Given the description of an element on the screen output the (x, y) to click on. 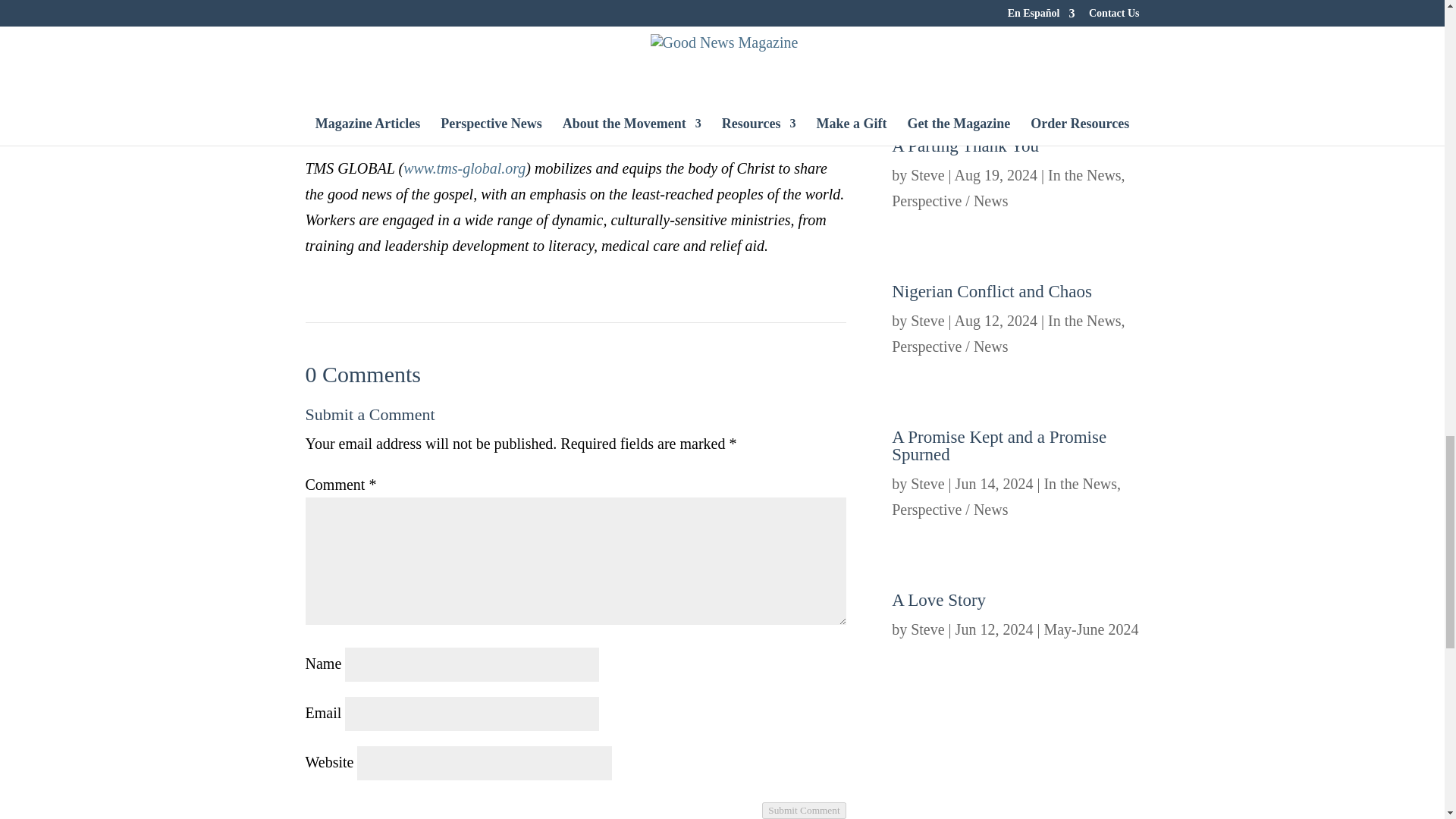
Posts by Steve (927, 483)
Posts by Steve (927, 320)
Posts by Steve (927, 629)
www.tms-global.org (464, 167)
Posts by Steve (927, 175)
Submit Comment (803, 810)
www.tms-global.org (571, 86)
